Given the description of an element on the screen output the (x, y) to click on. 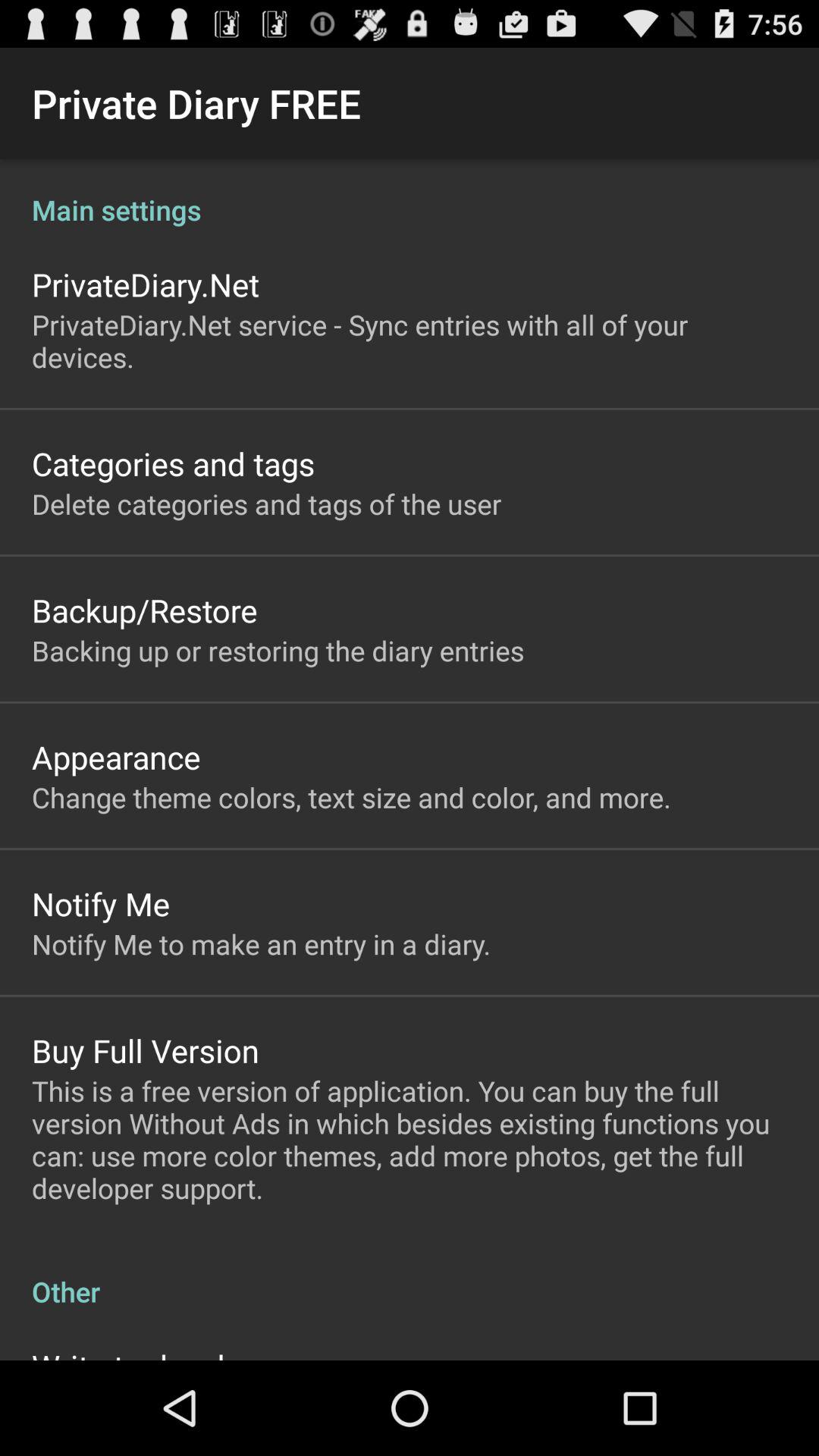
press item below the this is a item (409, 1275)
